Given the description of an element on the screen output the (x, y) to click on. 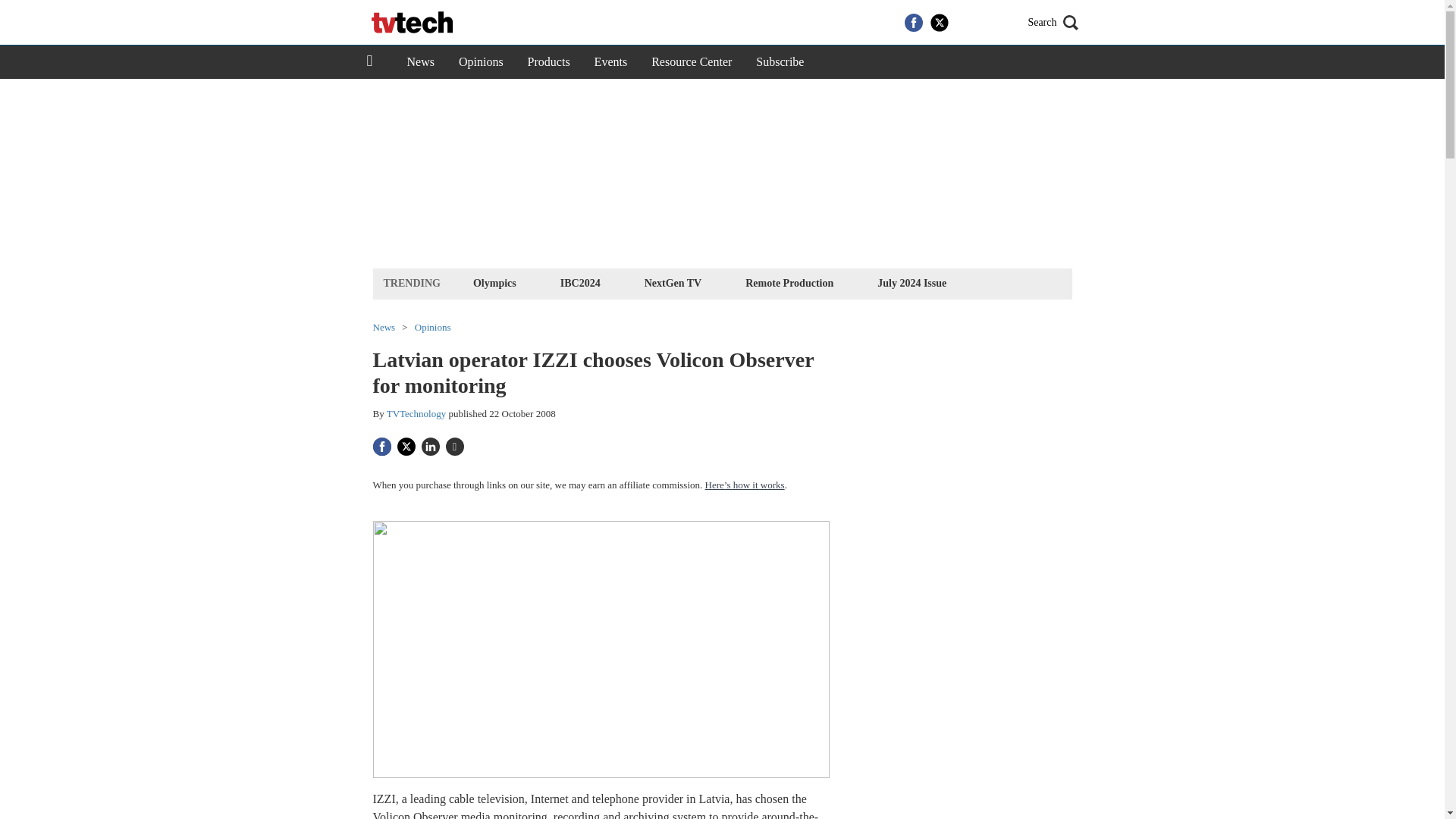
Opinions (480, 61)
Products (548, 61)
NextGen TV (673, 282)
Opinions (432, 327)
Events (611, 61)
RSS (990, 22)
IBC2024 (579, 282)
July 2024 Issue (912, 282)
News (419, 61)
Resource Center (691, 61)
Remote Production (788, 282)
Subscribe (779, 61)
Olympics (494, 282)
TVTechnology (416, 413)
